Given the description of an element on the screen output the (x, y) to click on. 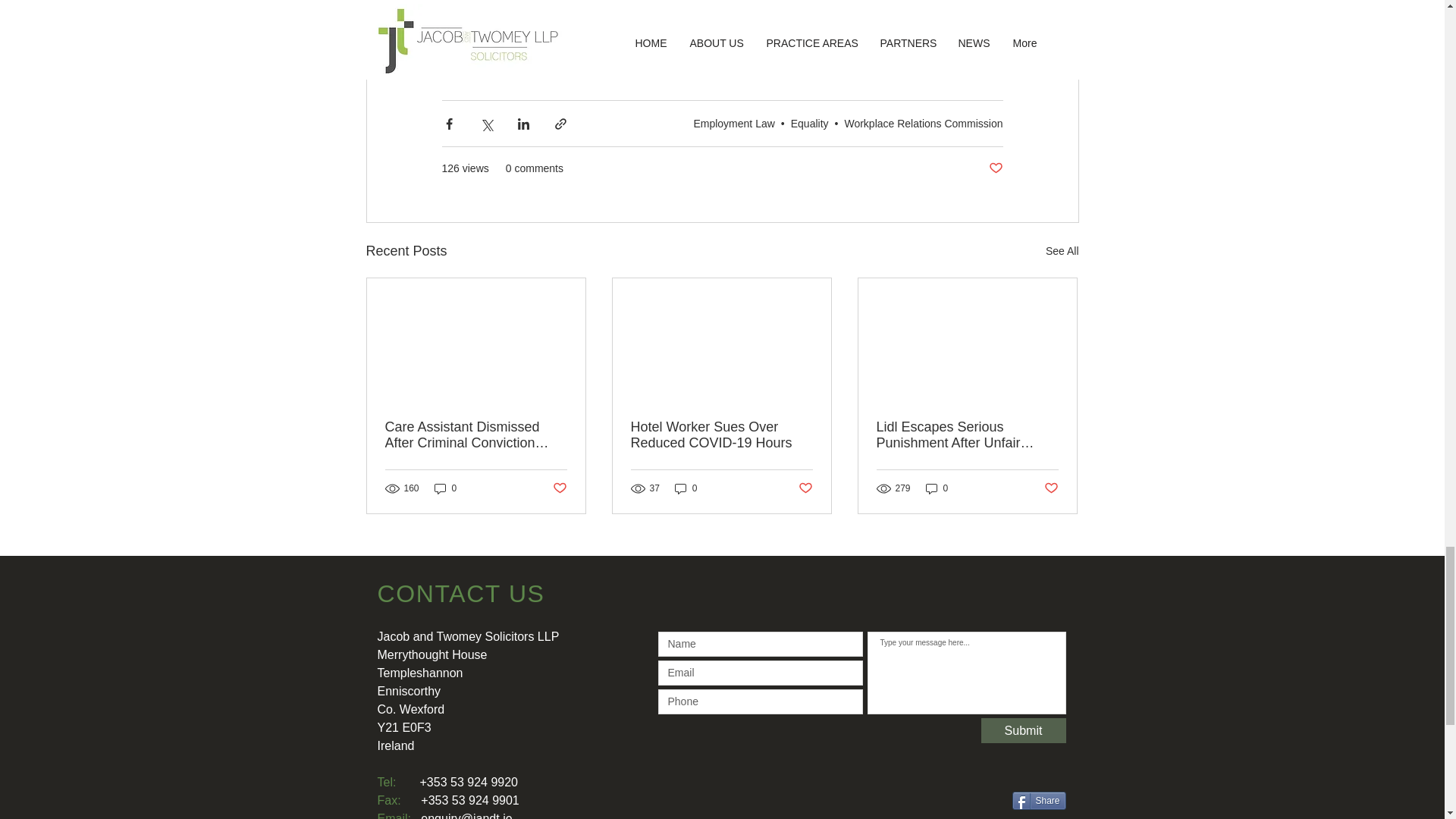
Share (1038, 800)
